Given the description of an element on the screen output the (x, y) to click on. 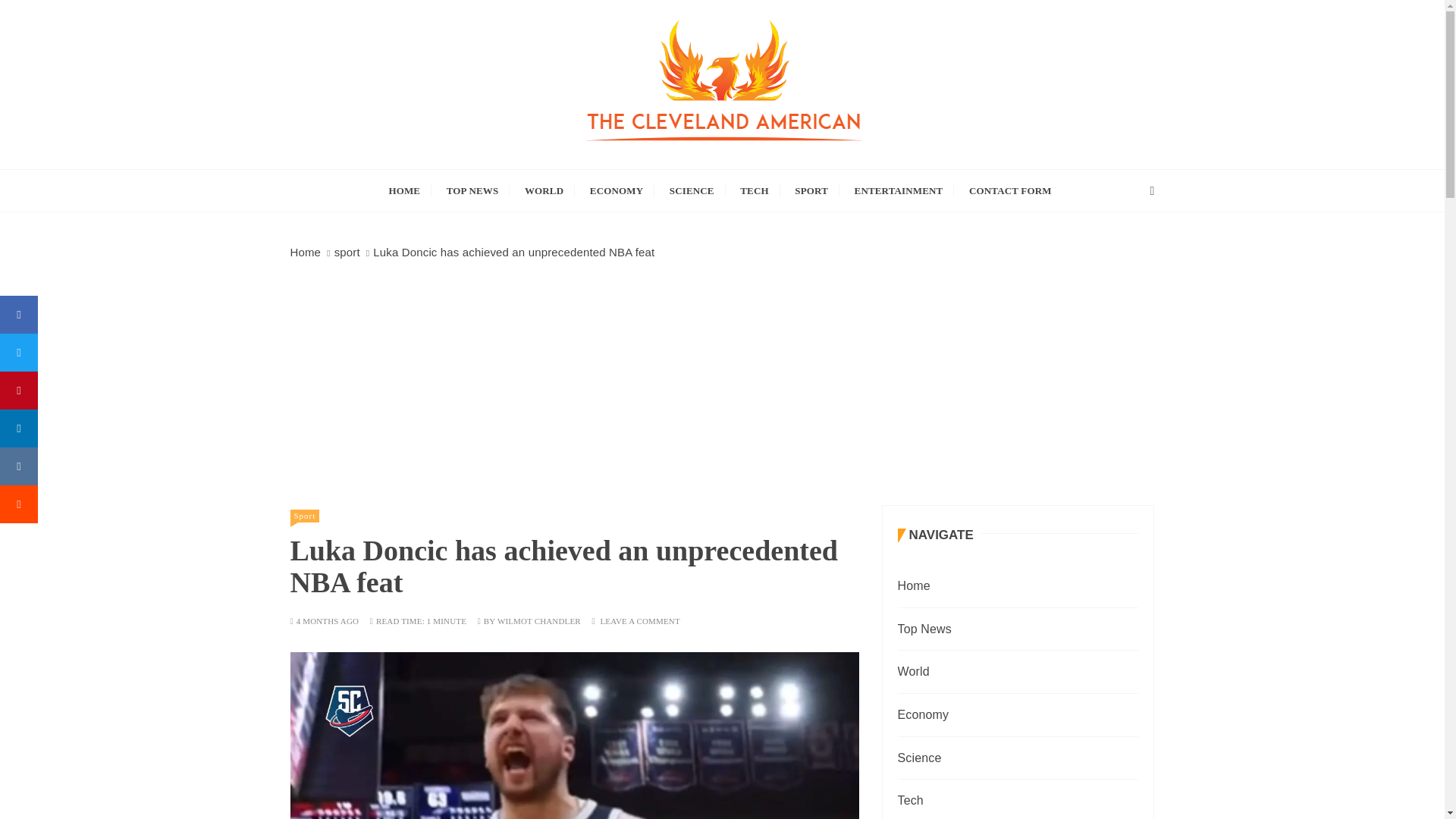
ENTERTAINMENT (899, 190)
WILMOT CHANDLER (538, 621)
TECH (753, 190)
ECONOMY (615, 190)
CONTACT FORM (1010, 190)
TOP NEWS (473, 190)
HOME (403, 190)
Luka Doncic has achieved an unprecedented NBA feat (574, 735)
Sport (303, 515)
sport (346, 251)
Luka Doncic has achieved an unprecedented NBA feat (512, 251)
LEAVE A COMMENT (639, 621)
TheClevelandAmerican (491, 179)
SCIENCE (691, 190)
